Given the description of an element on the screen output the (x, y) to click on. 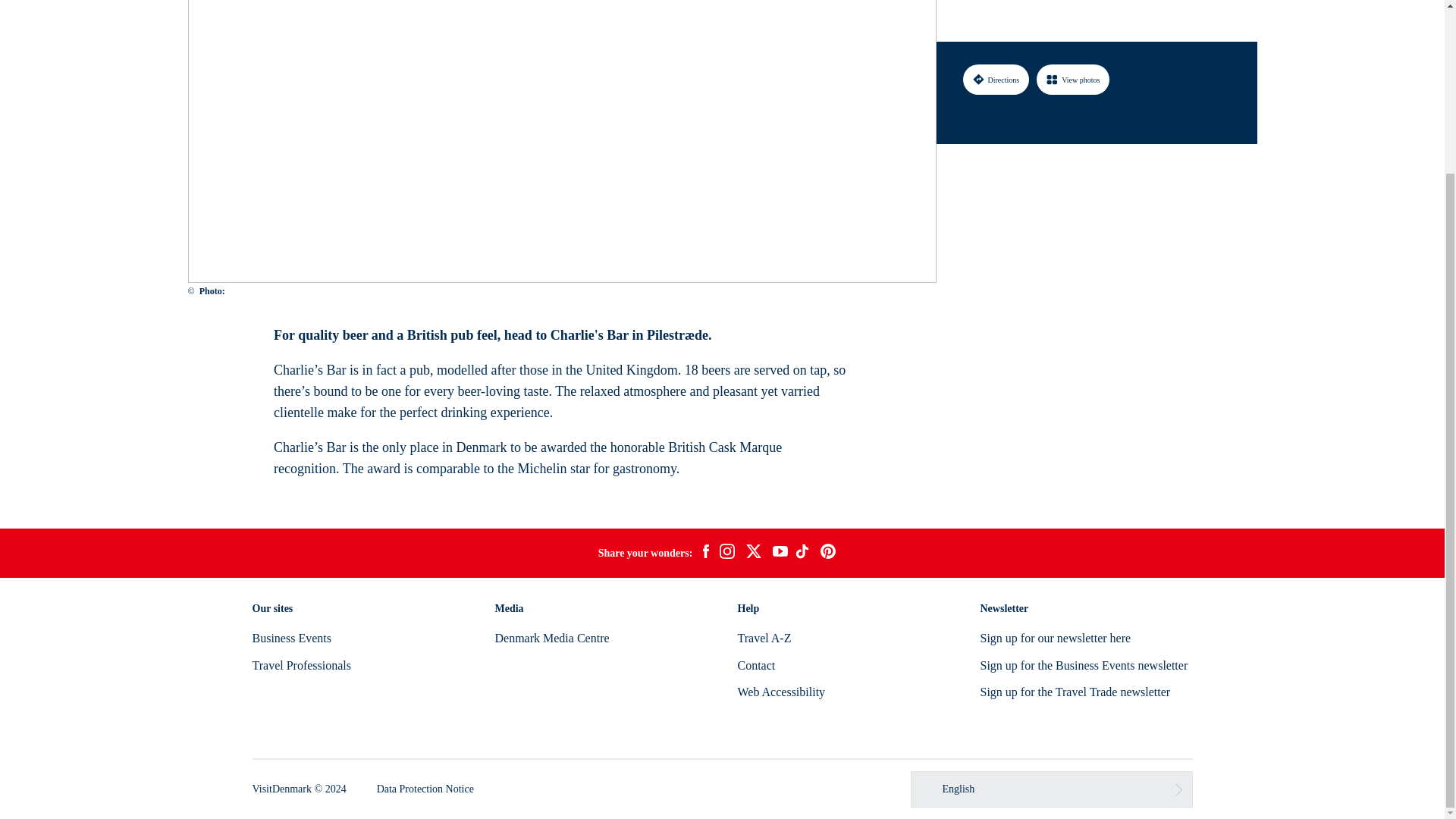
Web Accessibility (780, 691)
Web Accessibility (780, 691)
instagram (726, 553)
Denmark Media Centre (551, 637)
Sign up for our newsletter here (1055, 637)
pinterest (828, 553)
twitter (753, 553)
Travel A-Z (763, 637)
Sign up for the Business Events newsletter (1083, 665)
Sign up for the Business Events newsletter (1083, 665)
